Given the description of an element on the screen output the (x, y) to click on. 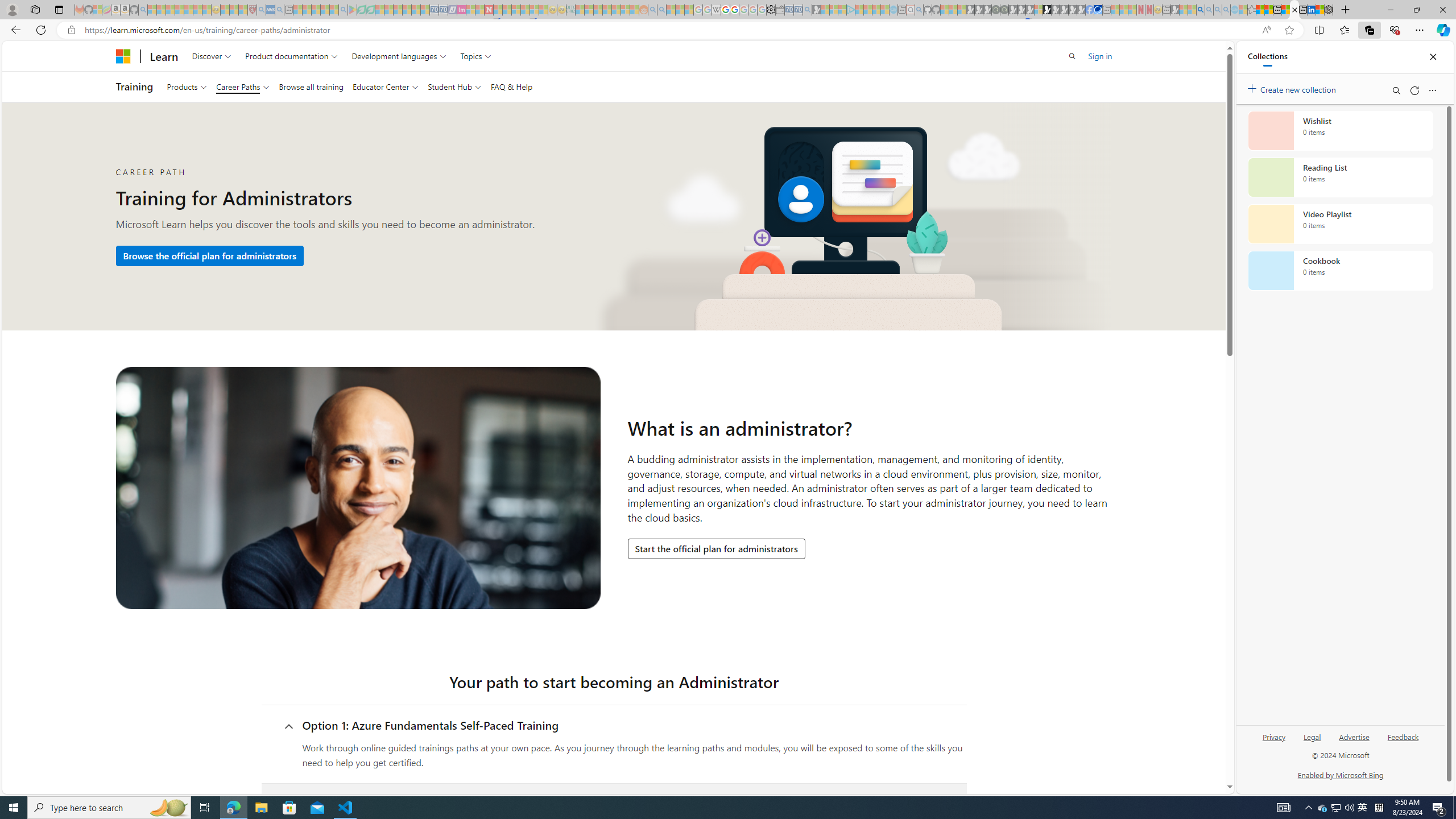
Development languages (398, 55)
Sign in to your account - Sleeping (1038, 9)
